Given the description of an element on the screen output the (x, y) to click on. 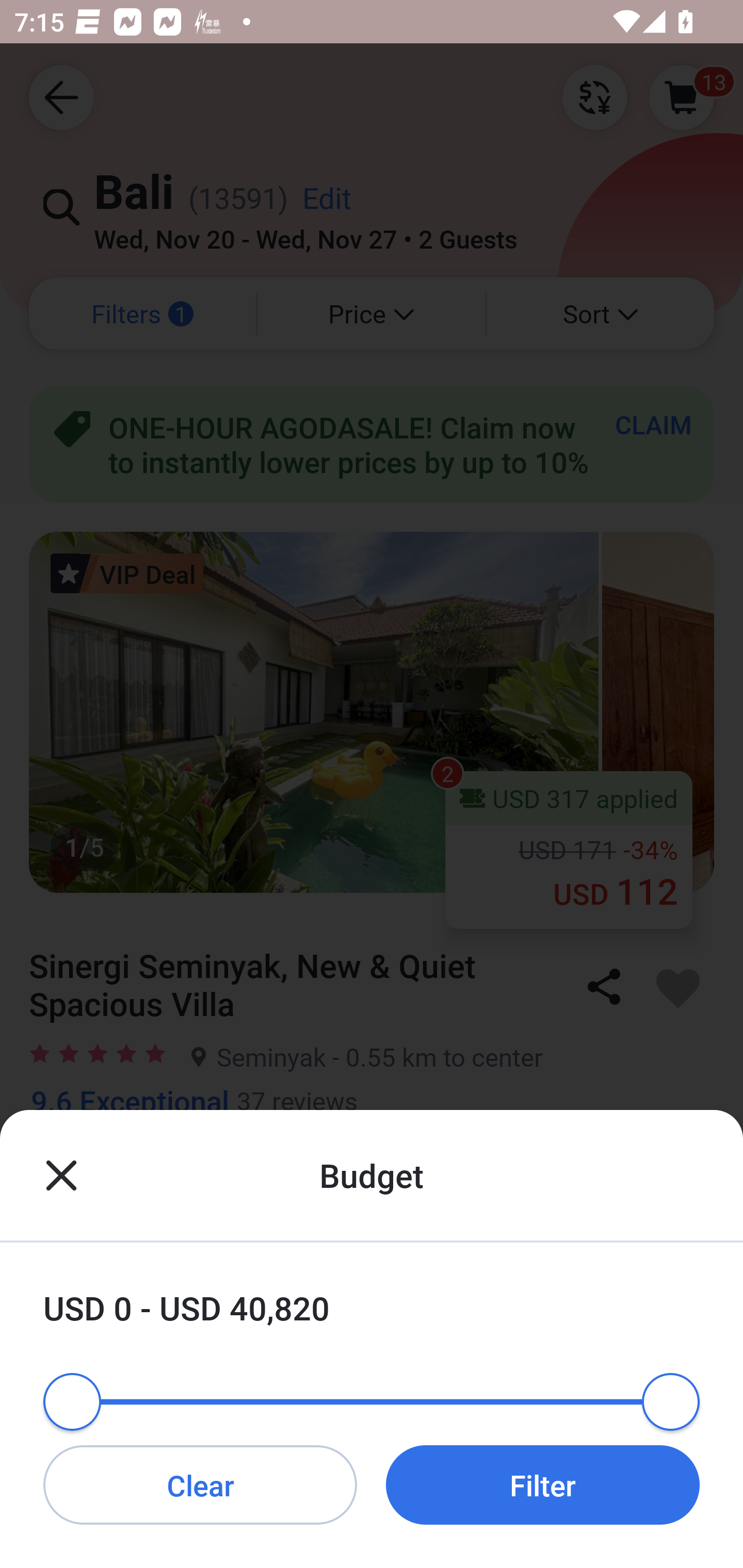
2 rewards applied USD 317 off (371, 1322)
Clear (200, 1484)
Filter (542, 1484)
